Given the description of an element on the screen output the (x, y) to click on. 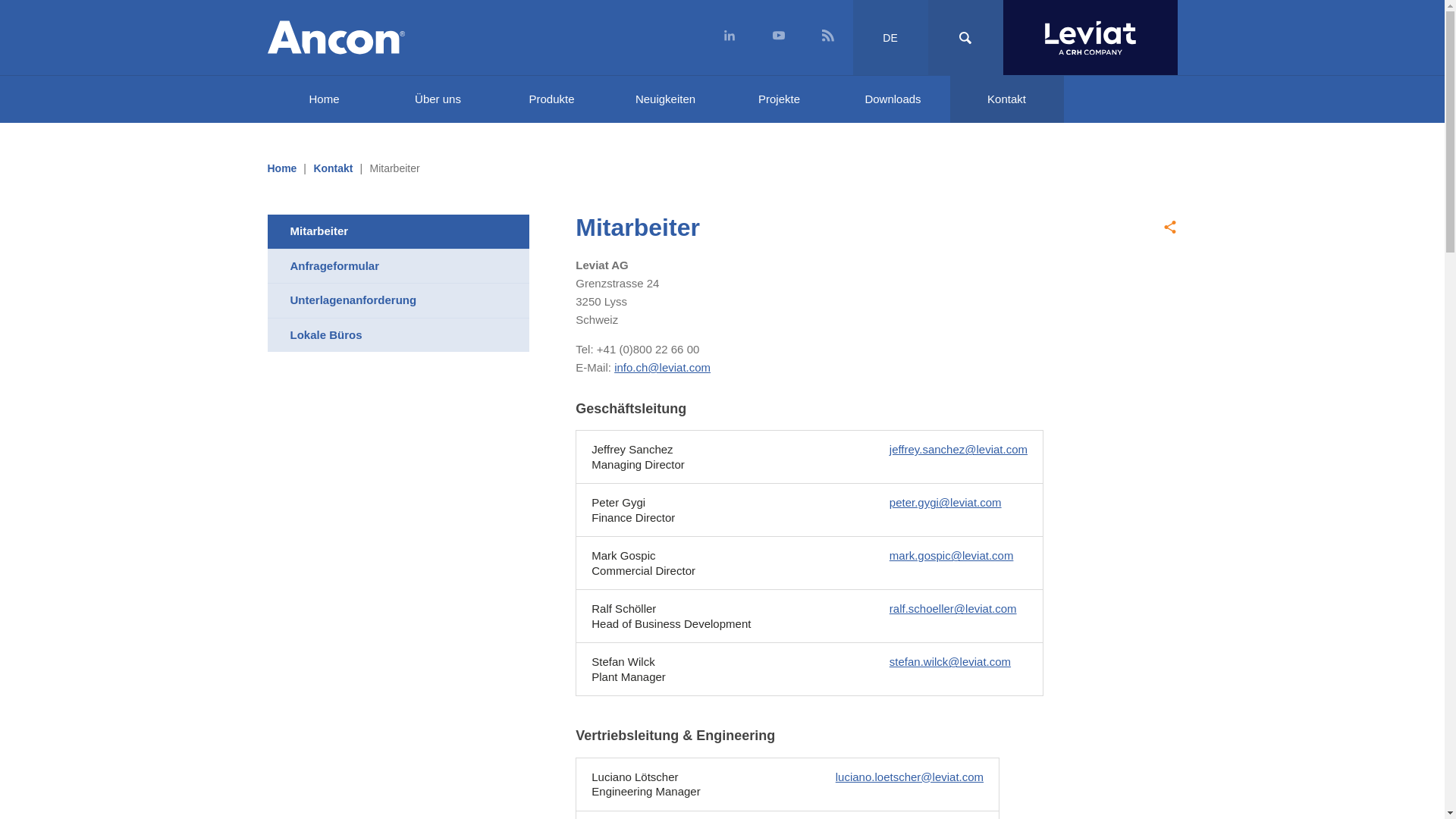
info.ch@leviat.com Element type: text (662, 366)
Home Element type: text (323, 98)
jeffrey.sanchez@leviat.com Element type: text (958, 448)
peter.gygi@leviat.com Element type: text (945, 501)
Downloads Element type: text (892, 98)
mark.gospic@leviat.com Element type: text (951, 555)
Unterlagenanforderung Element type: text (397, 300)
Produkte Element type: text (551, 98)
luciano.loetscher@leviat.com Element type: text (909, 776)
Kontakt Element type: text (1006, 98)
Projekte Element type: text (778, 98)
Home Element type: text (281, 168)
Mitarbeiter Element type: text (397, 231)
Neuigkeiten Element type: text (664, 98)
ralf.schoeller@leviat.com Element type: text (952, 608)
stefan.wilck@leviat.com Element type: text (949, 661)
Kontakt Element type: text (332, 168)
DE Element type: text (889, 37)
Anfrageformular Element type: text (397, 265)
